Given the description of an element on the screen output the (x, y) to click on. 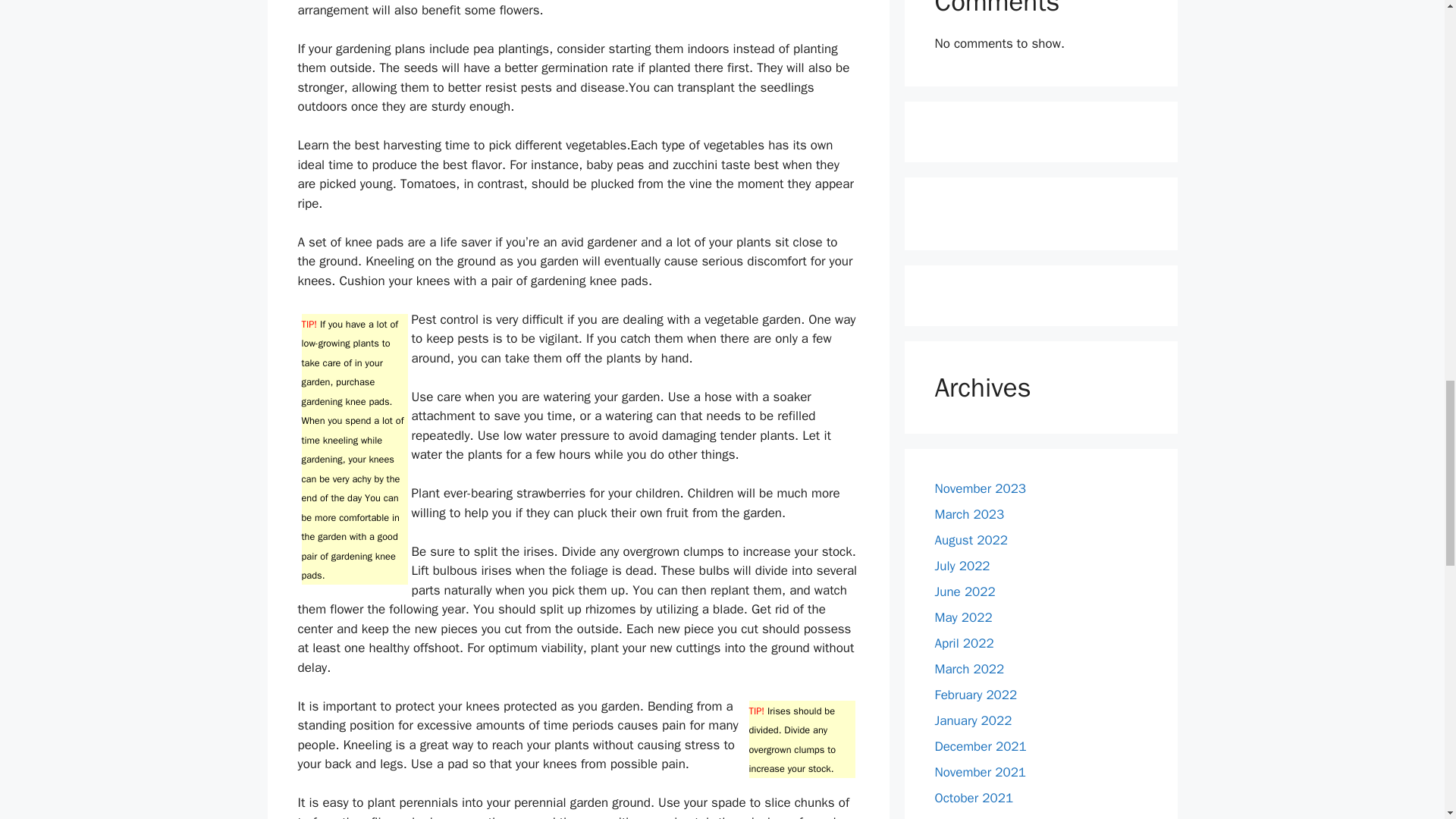
April 2022 (963, 643)
August 2022 (970, 539)
May 2022 (962, 617)
March 2022 (969, 668)
July 2022 (962, 565)
June 2022 (964, 591)
November 2023 (980, 488)
March 2023 (969, 514)
